Given the description of an element on the screen output the (x, y) to click on. 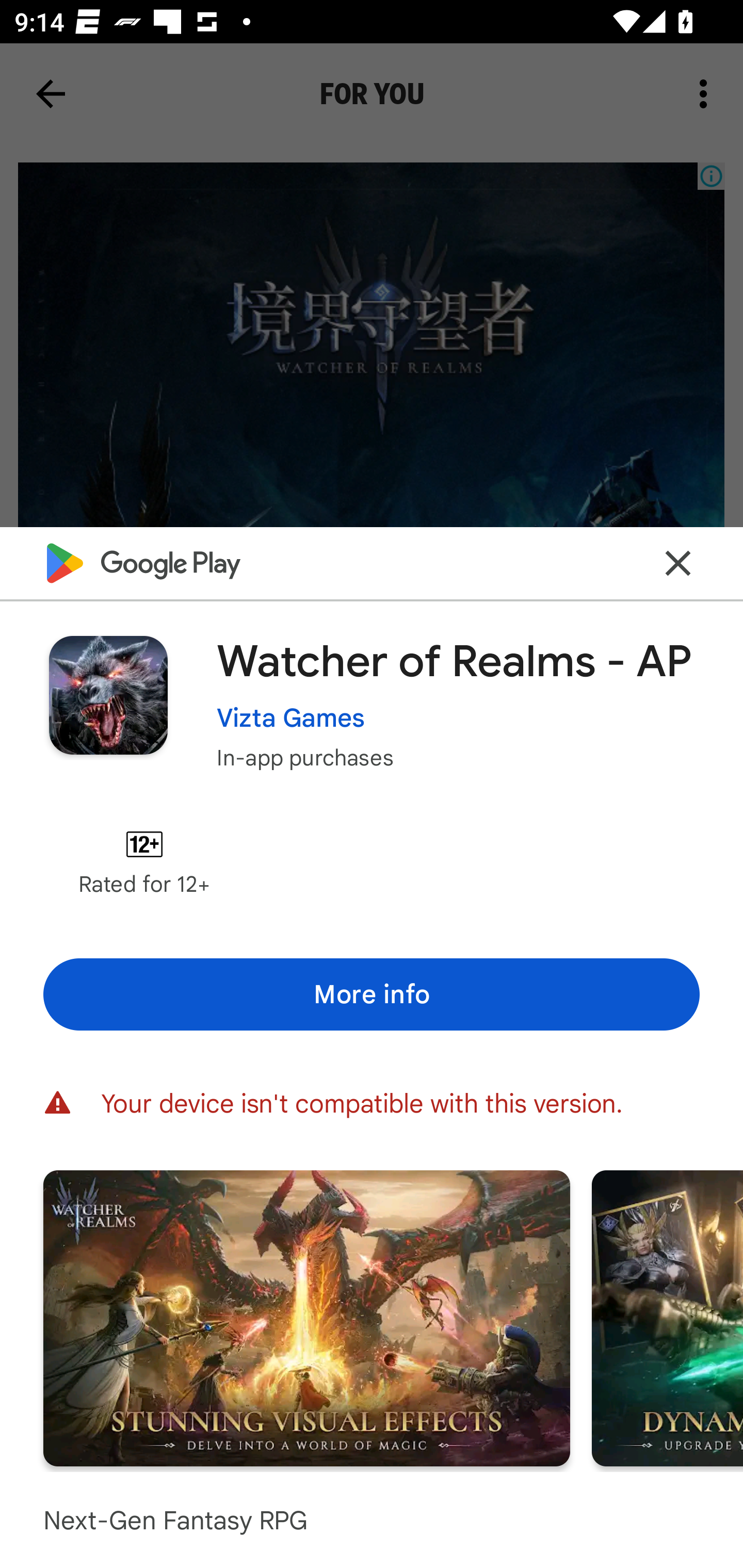
Close (677, 562)
Vizta Games (290, 716)
More info (371, 994)
Screenshot "1" of "7" (306, 1317)
